Given the description of an element on the screen output the (x, y) to click on. 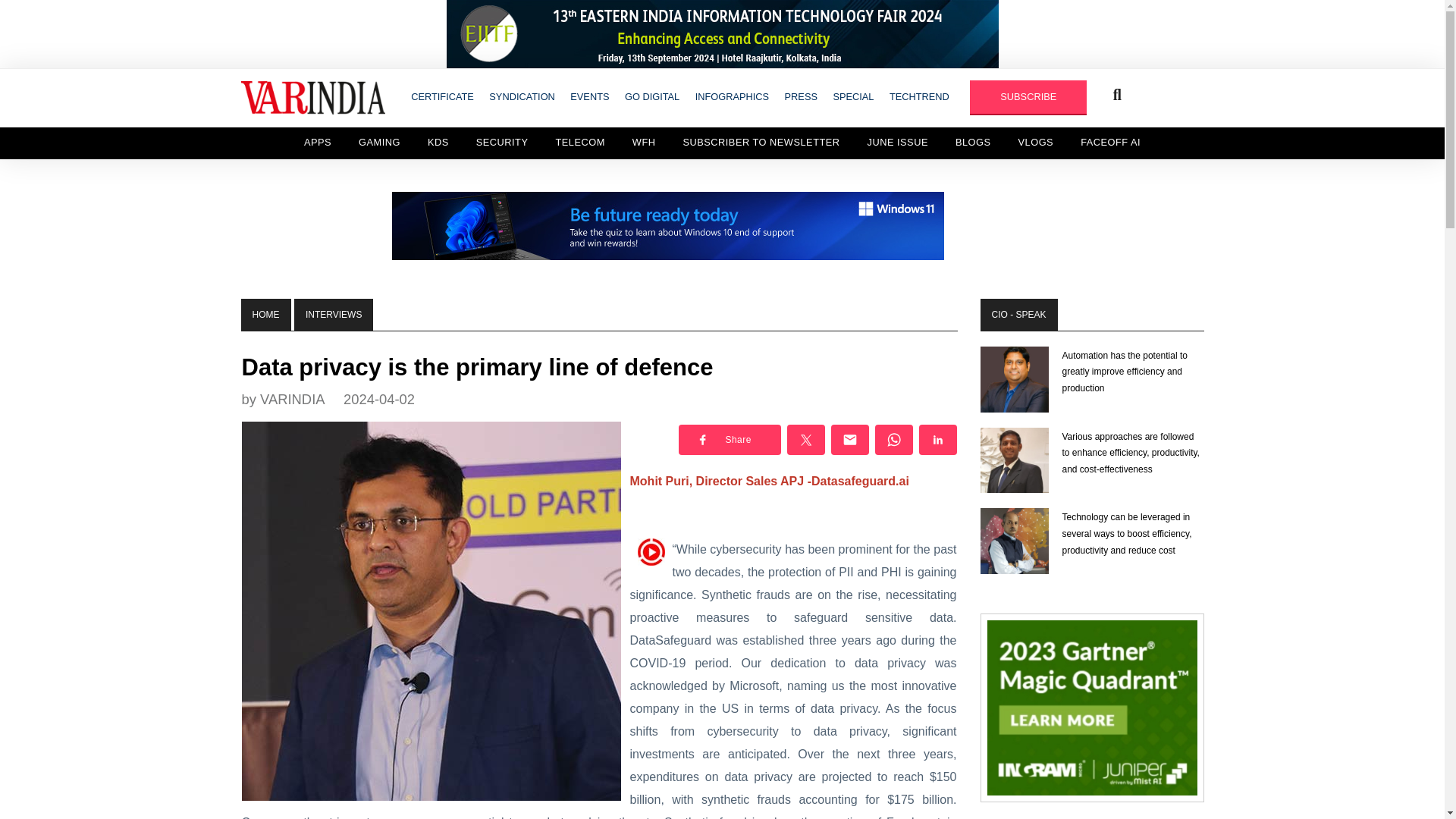
SPECIAL (853, 96)
INFOGRAPHICS (731, 96)
PRESS (801, 96)
EVENTS (589, 96)
SYNDICATION (521, 96)
TECHTREND (919, 96)
GO DIGITAL (651, 96)
CERTIFICATE (442, 96)
